Given the description of an element on the screen output the (x, y) to click on. 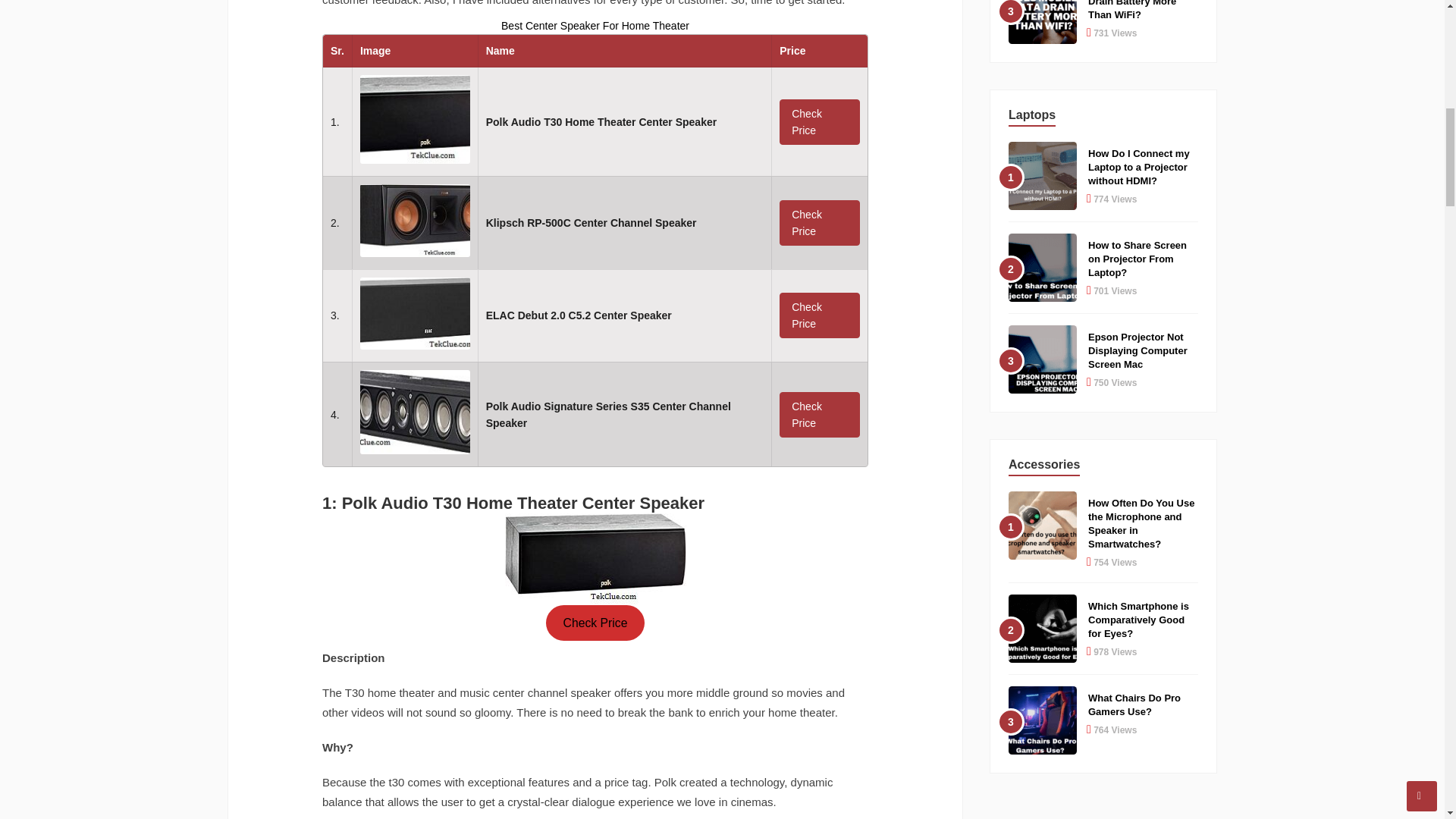
Polk Audio T30 Home Theater Center Speaker (601, 121)
Check Price (819, 121)
Check Price (819, 222)
Klipsch RP-500C Center Channel Speaker (591, 223)
Check Price (595, 622)
Polk Audio Signature Series S35 Center Channel Speaker (608, 414)
ELAC Debut 2.0 C5.2 Center Speaker (578, 315)
Check Price (819, 315)
Check Price (819, 414)
